Given the description of an element on the screen output the (x, y) to click on. 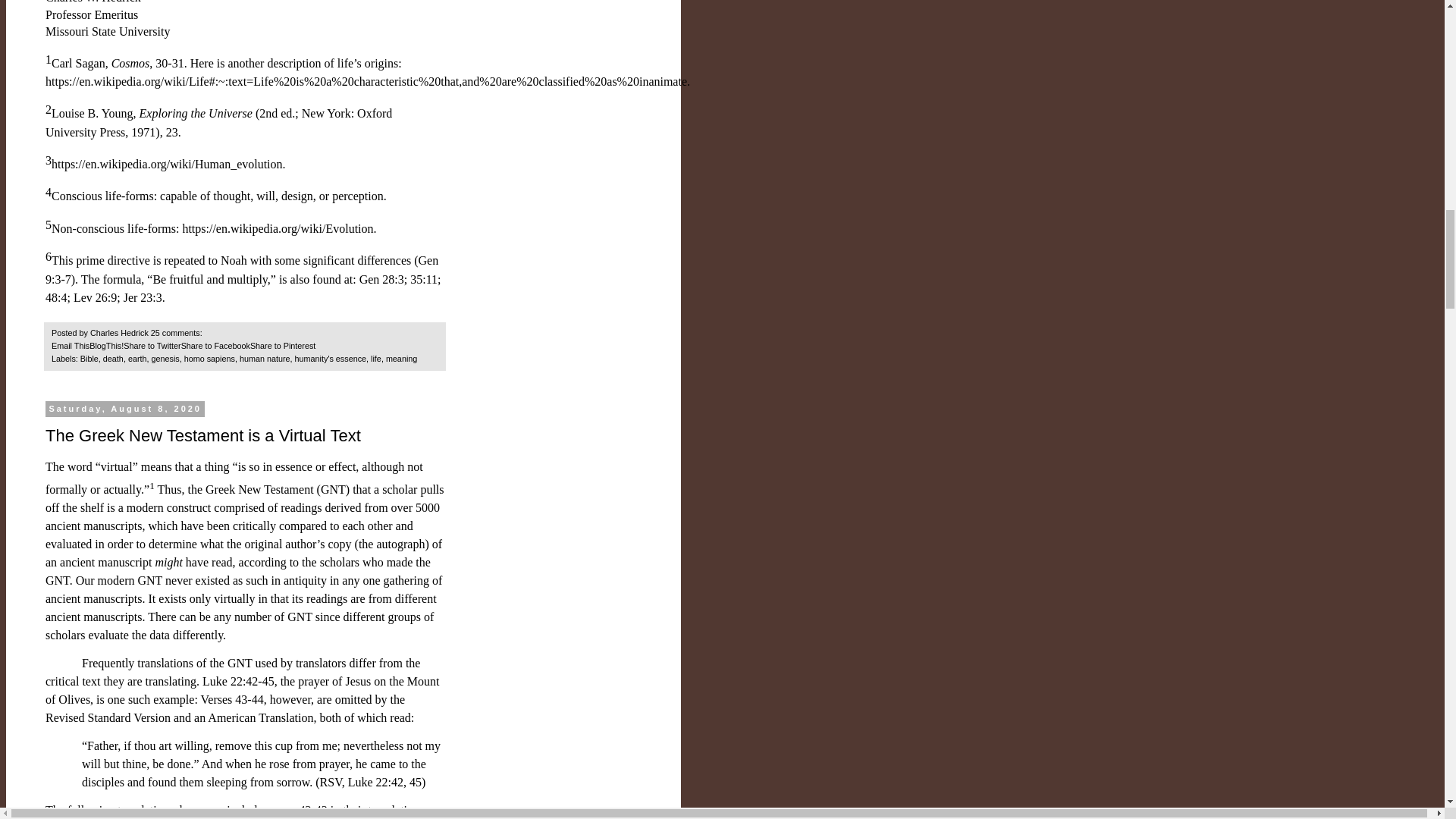
Email This (69, 345)
Share to Facebook (215, 345)
Email This (69, 345)
meaning (400, 358)
humanity's essence (330, 358)
Bible (89, 358)
BlogThis! (105, 345)
Email Post (211, 332)
life (376, 358)
BlogThis! (105, 345)
human nature (264, 358)
genesis (165, 358)
Share to Twitter (151, 345)
Share to Facebook (215, 345)
Share to Twitter (151, 345)
